Given the description of an element on the screen output the (x, y) to click on. 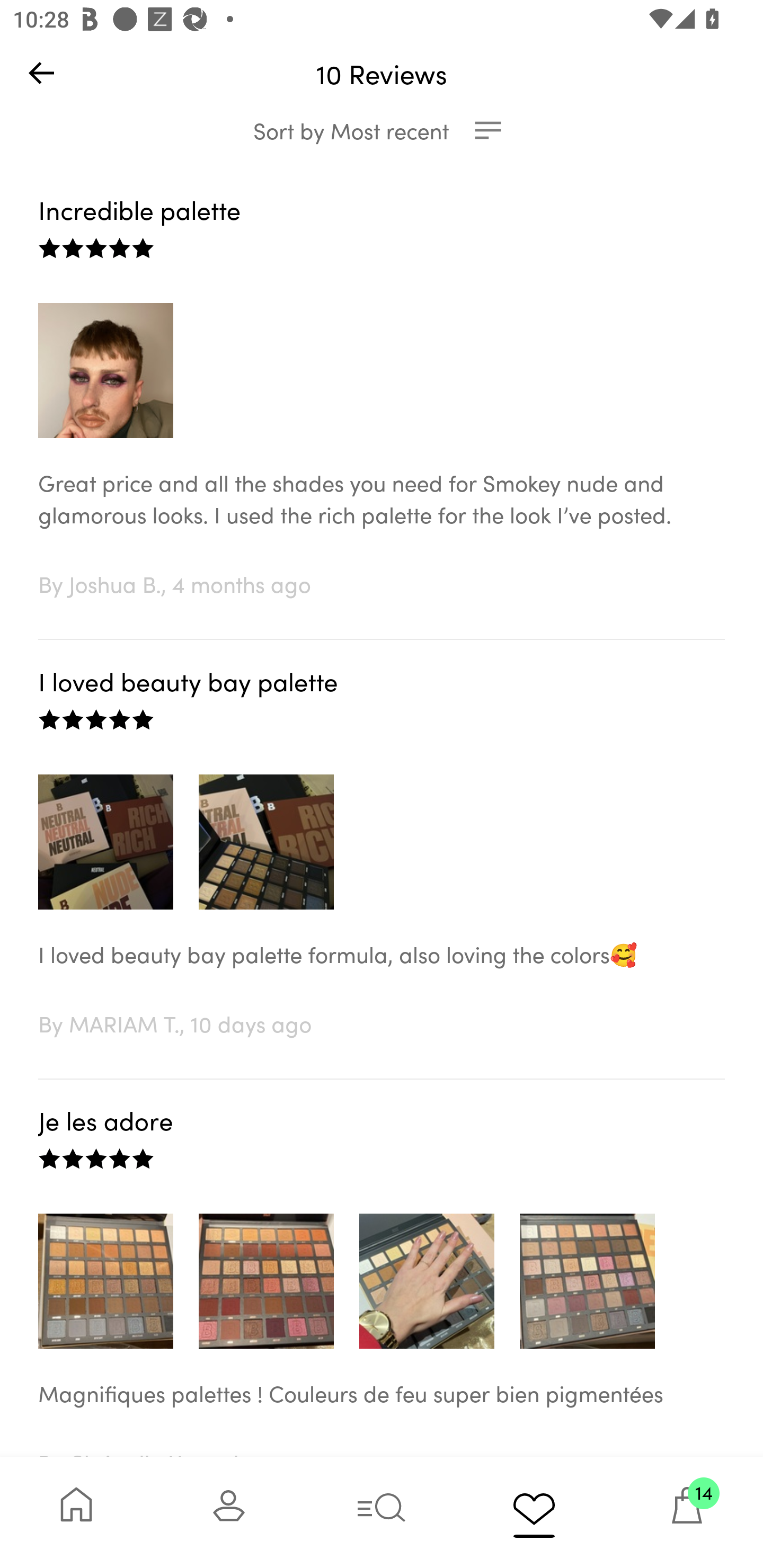
Sort by Most recent (381, 130)
14 (686, 1512)
